Given the description of an element on the screen output the (x, y) to click on. 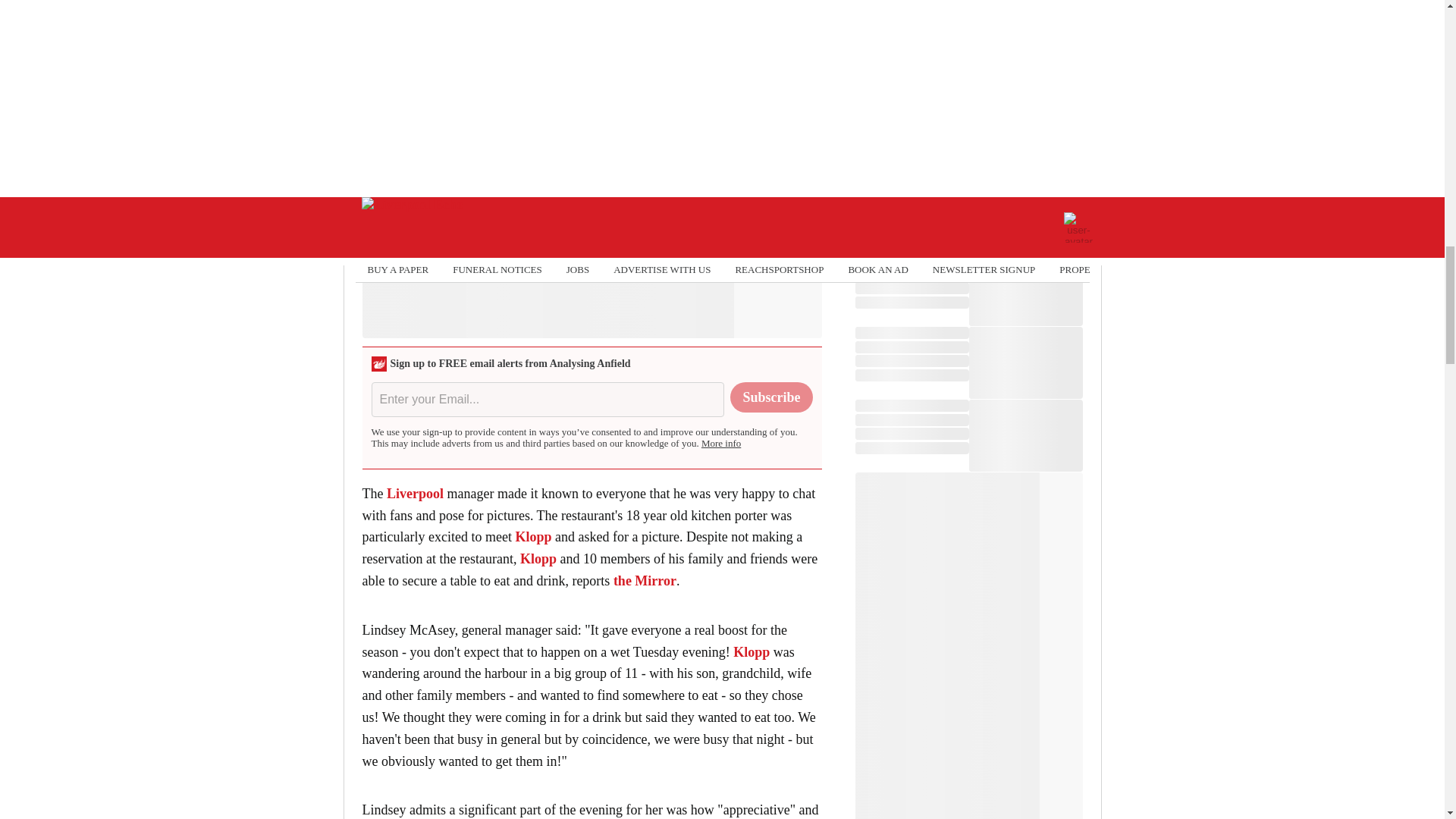
Subscribe (771, 397)
Klopp (537, 558)
Klopp (751, 652)
Klopp (533, 536)
More info (721, 442)
Liverpool (415, 493)
the Mirror (644, 580)
